Given the description of an element on the screen output the (x, y) to click on. 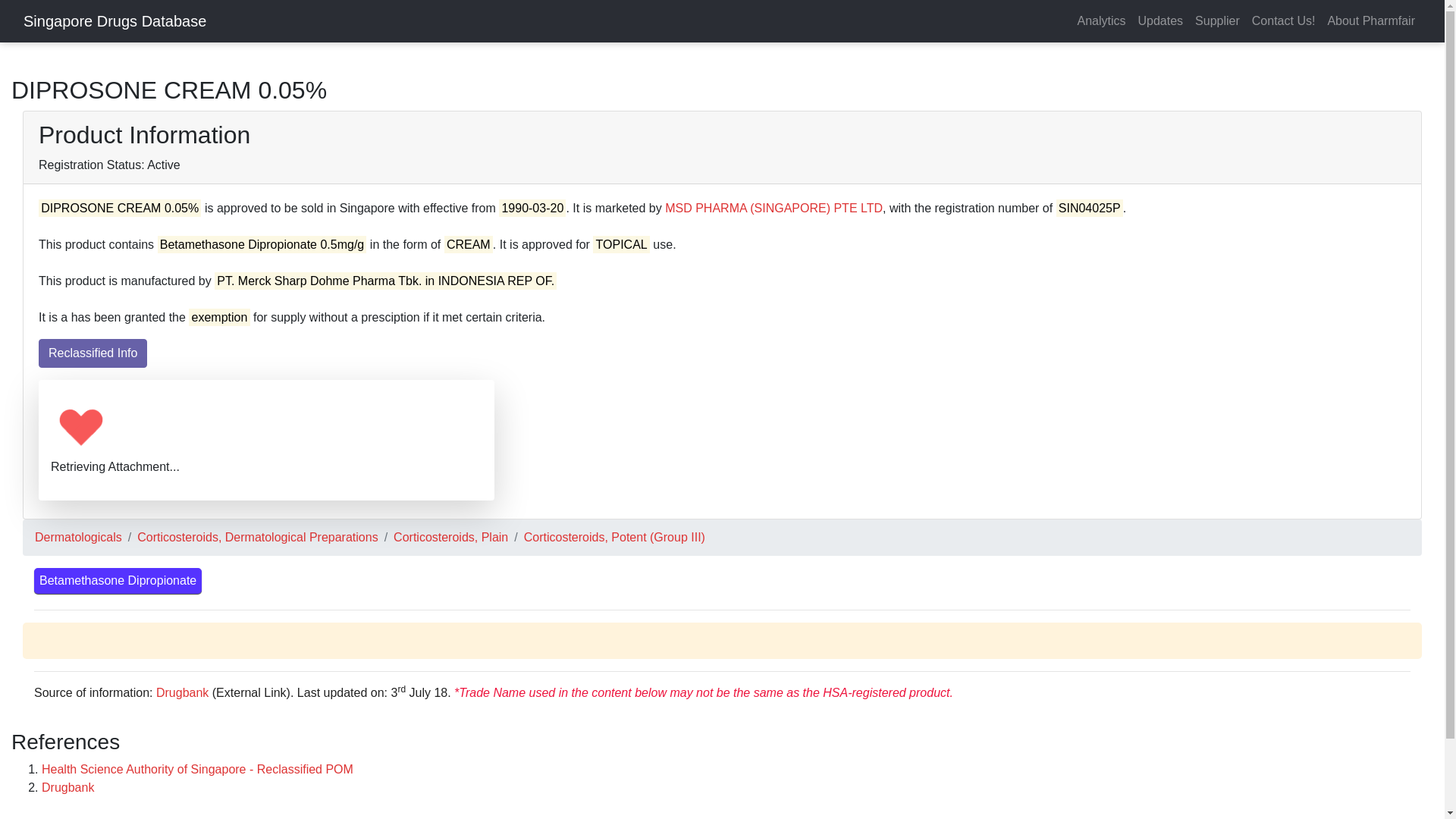
Updates (1160, 20)
Analytics (1100, 20)
Corticosteroids, Dermatological Preparations (256, 536)
About Pharmfair (1370, 20)
Drugbank (181, 692)
Supplier (1217, 20)
Reclassified Info (93, 353)
Contact Us! (1284, 20)
Analytics (1100, 20)
Updates (1160, 20)
About Pharmfair (1370, 20)
Singapore Drugs Database (114, 20)
Supplier (1217, 20)
Health Science Authority of Singapore - Reclassified POM (197, 768)
Singapore Drugs Database (114, 20)
